Given the description of an element on the screen output the (x, y) to click on. 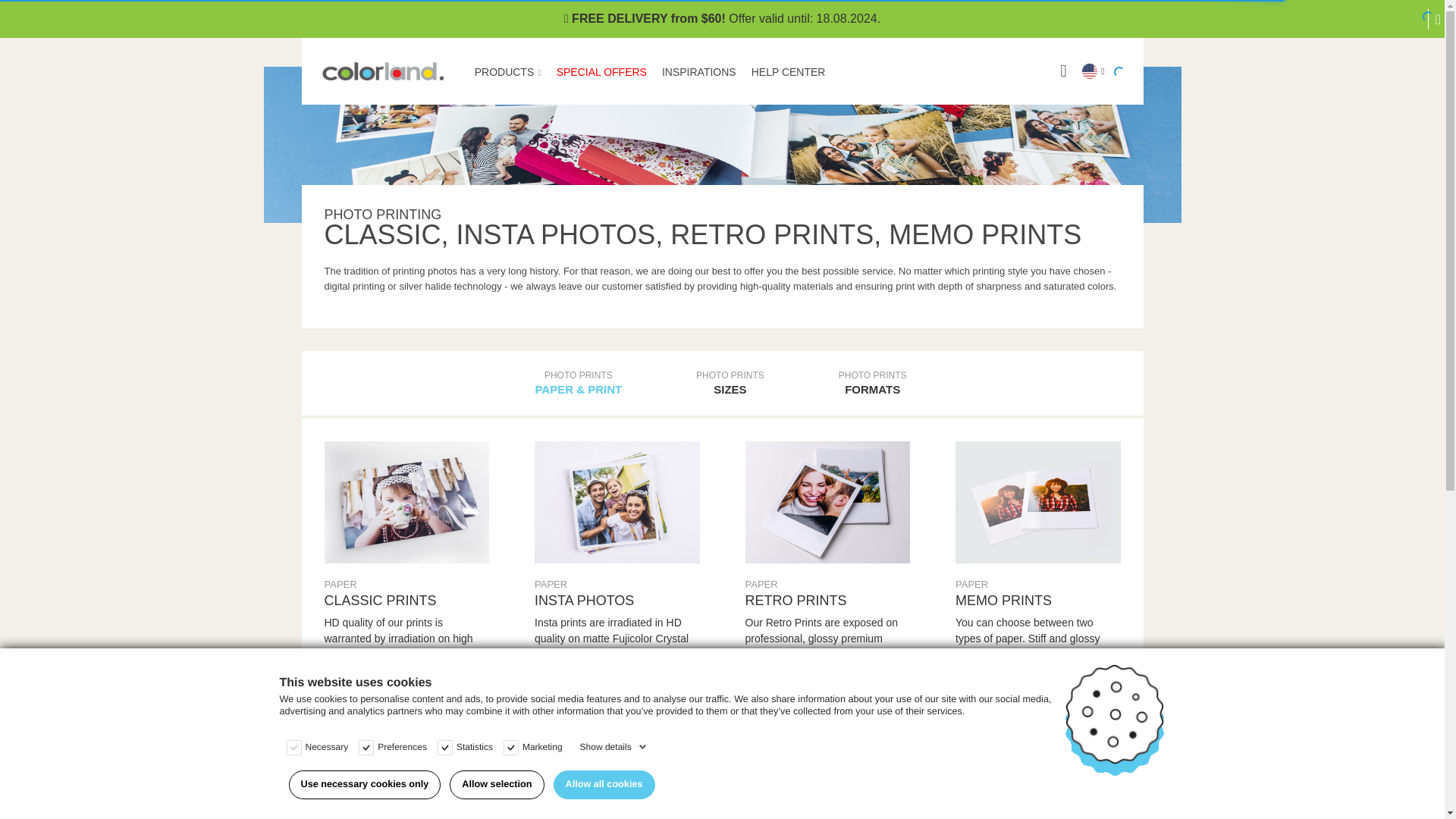
Show details (612, 746)
Allow all cookies (604, 784)
Allow selection (496, 784)
Use necessary cookies only (364, 784)
